Given the description of an element on the screen output the (x, y) to click on. 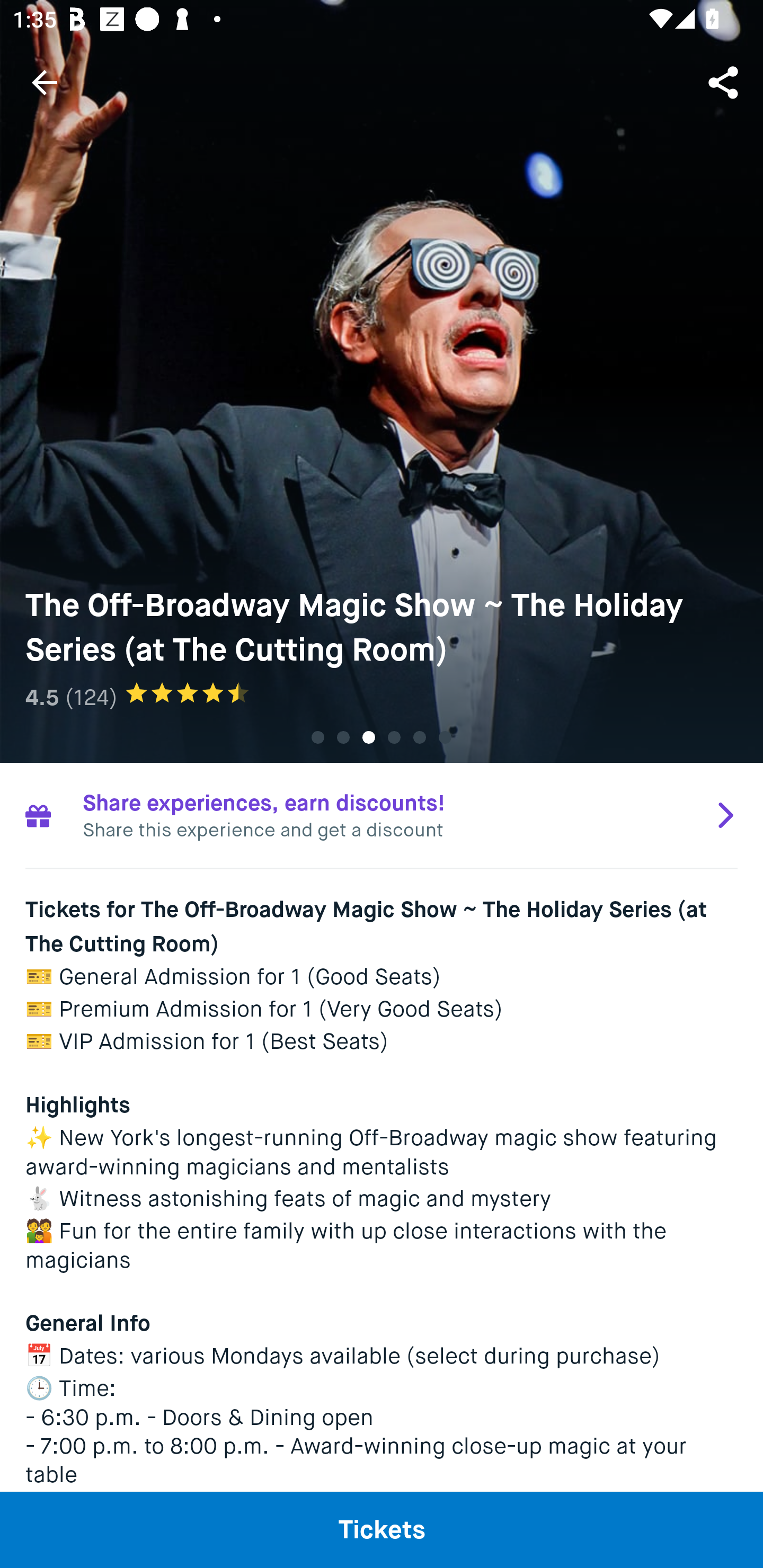
Navigate up (44, 82)
Share (724, 81)
(124) (90, 697)
Tickets (381, 1529)
